Given the description of an element on the screen output the (x, y) to click on. 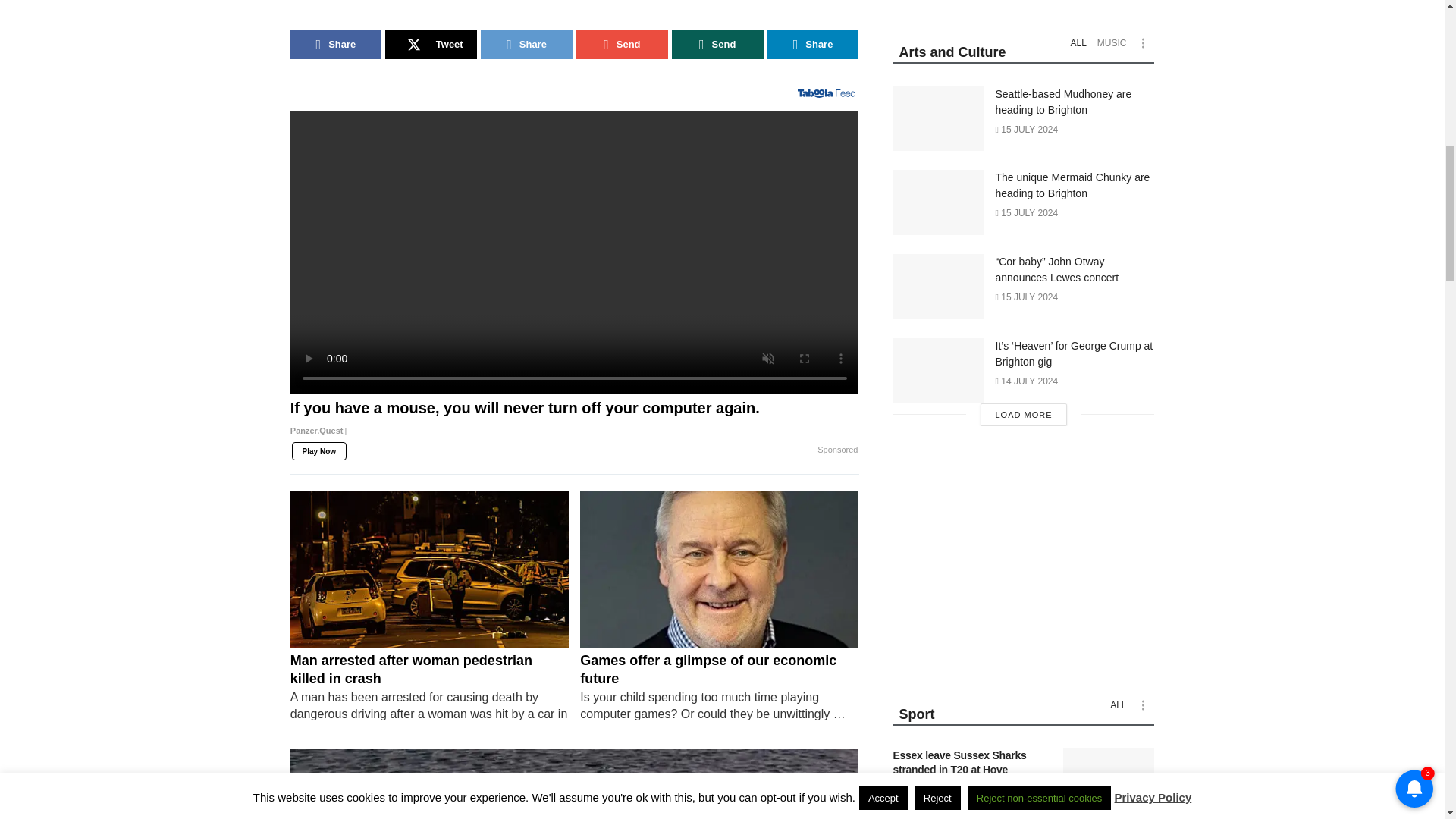
Man arrested after woman pedestrian killed in crash (429, 686)
Man arrested after woman pedestrian killed in crash (429, 568)
Games offer a glimpse of our economic future (719, 686)
Games offer a glimpse of our economic future (719, 568)
